Given the description of an element on the screen output the (x, y) to click on. 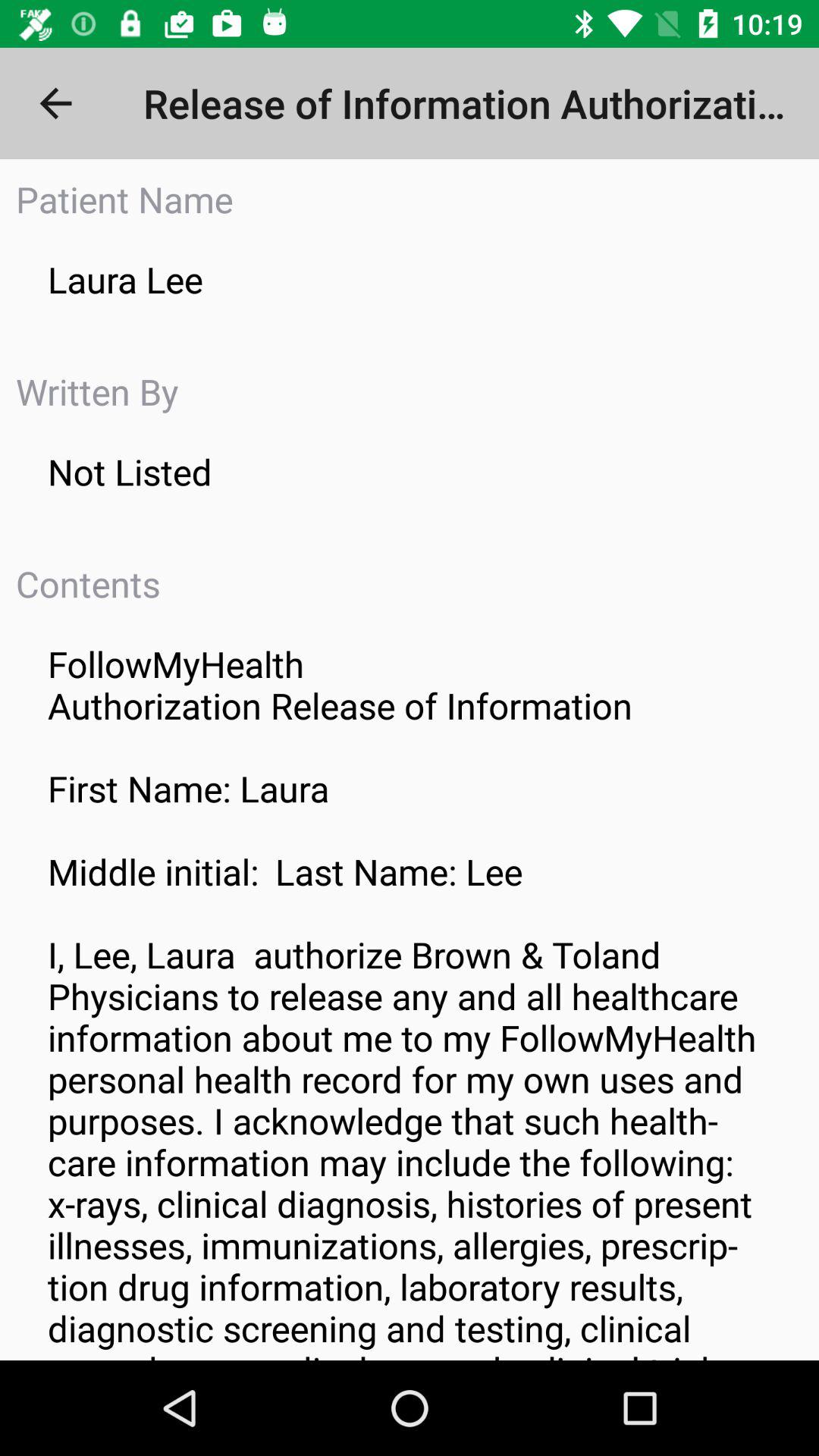
tap item above the patient name icon (55, 103)
